Given the description of an element on the screen output the (x, y) to click on. 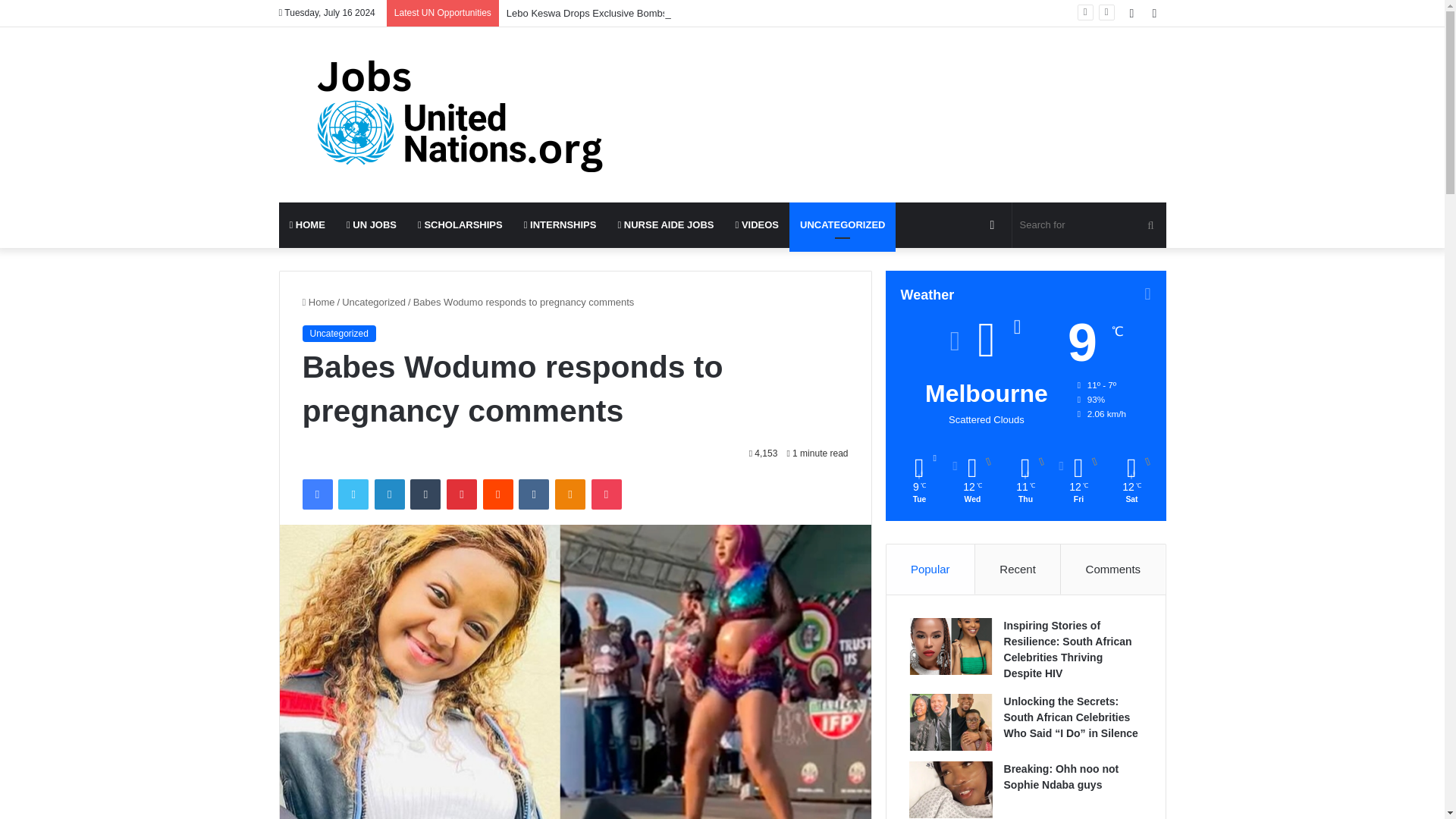
NURSE AIDE JOBS (665, 225)
Odnoklassniki (569, 494)
UN JOBS (371, 225)
INTERNSHIPS (560, 225)
Facebook (316, 494)
Reddit (498, 494)
VKontakte (533, 494)
Pinterest (461, 494)
LinkedIn (389, 494)
VIDEOS (757, 225)
Home (317, 301)
Pocket (606, 494)
Twitter (352, 494)
LinkedIn (389, 494)
HOME (307, 225)
